Given the description of an element on the screen output the (x, y) to click on. 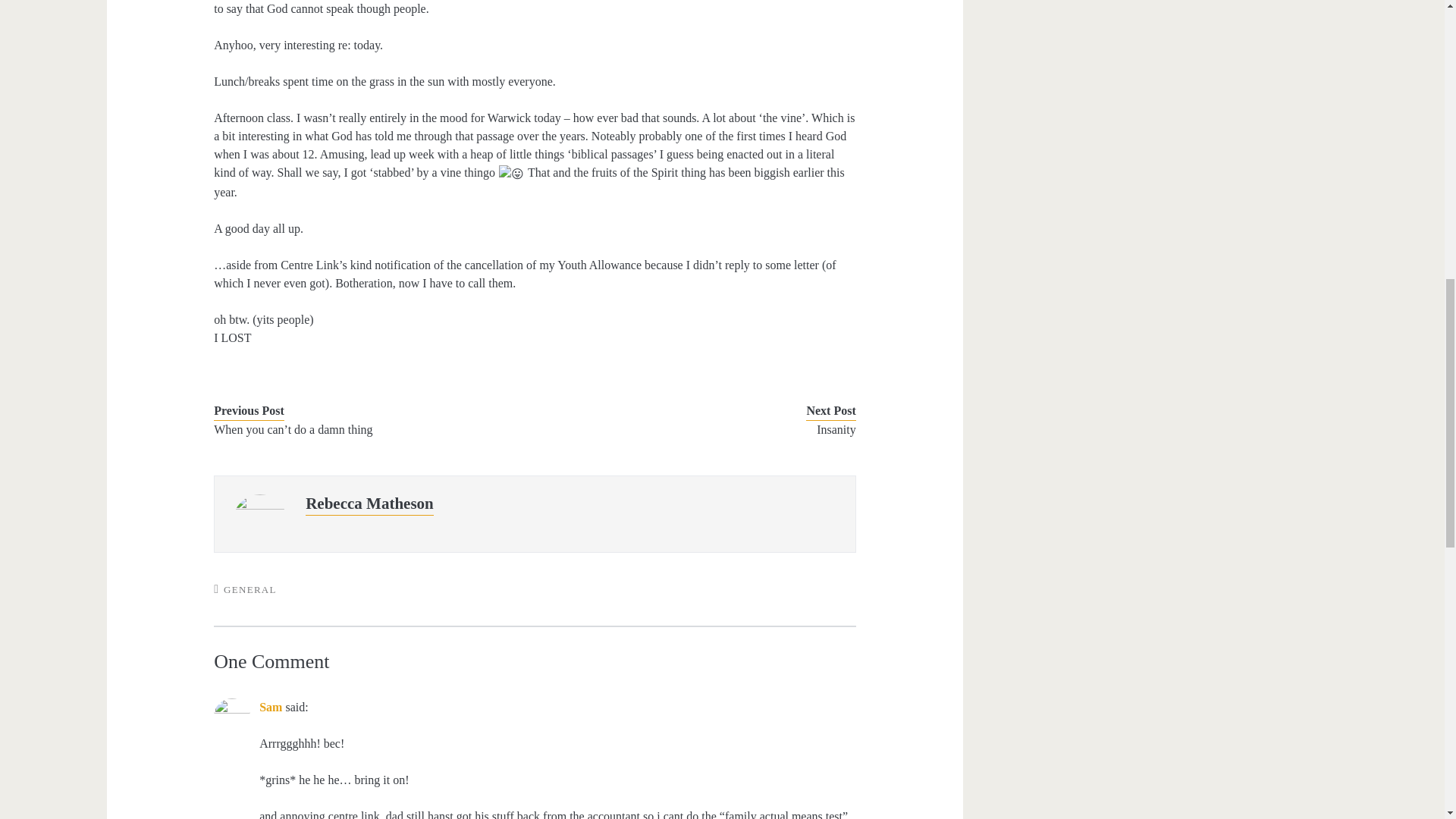
Rebecca Matheson (369, 503)
Insanity (708, 429)
View all posts in General (250, 589)
GENERAL (250, 589)
Sam (270, 707)
